Given the description of an element on the screen output the (x, y) to click on. 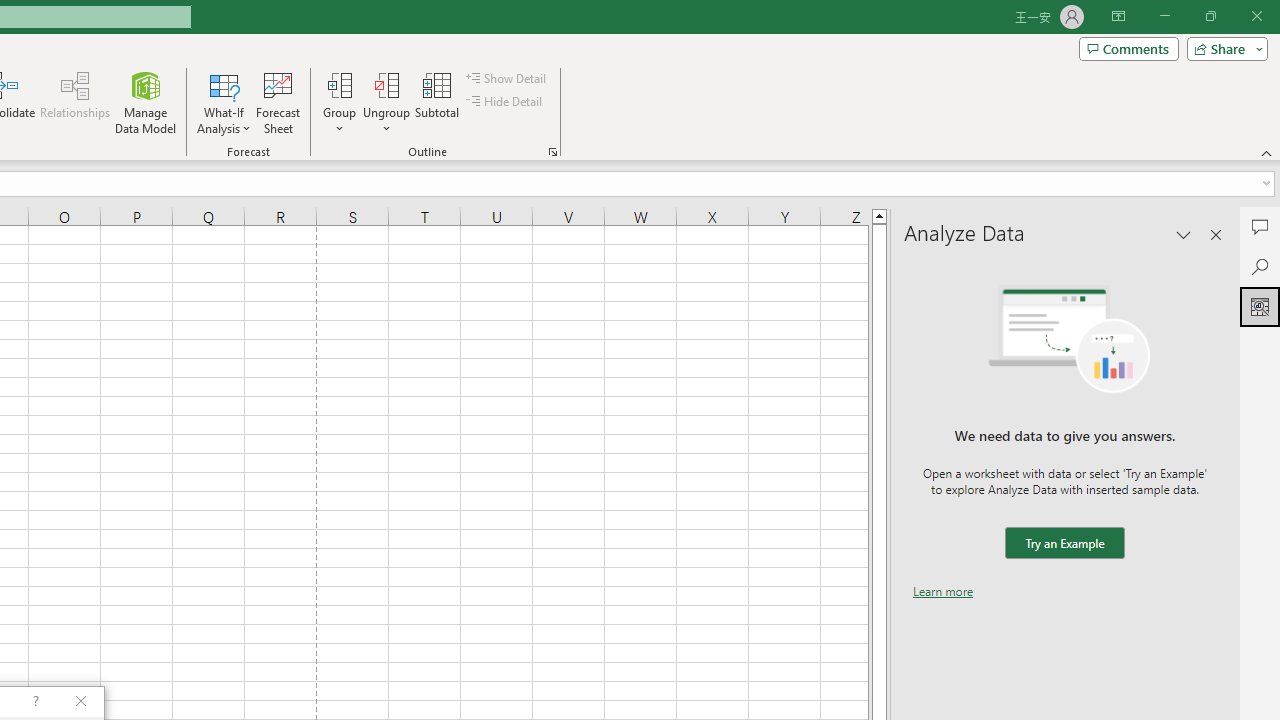
Show Detail (507, 78)
Subtotal (437, 102)
Close pane (1215, 234)
Learn more (943, 591)
Search (1260, 266)
Ribbon Display Options (1118, 16)
Comments (1260, 226)
Minimize (1164, 16)
Line up (879, 215)
Ungroup... (386, 102)
Group... (339, 102)
Group... (339, 84)
What-If Analysis (223, 102)
